Given the description of an element on the screen output the (x, y) to click on. 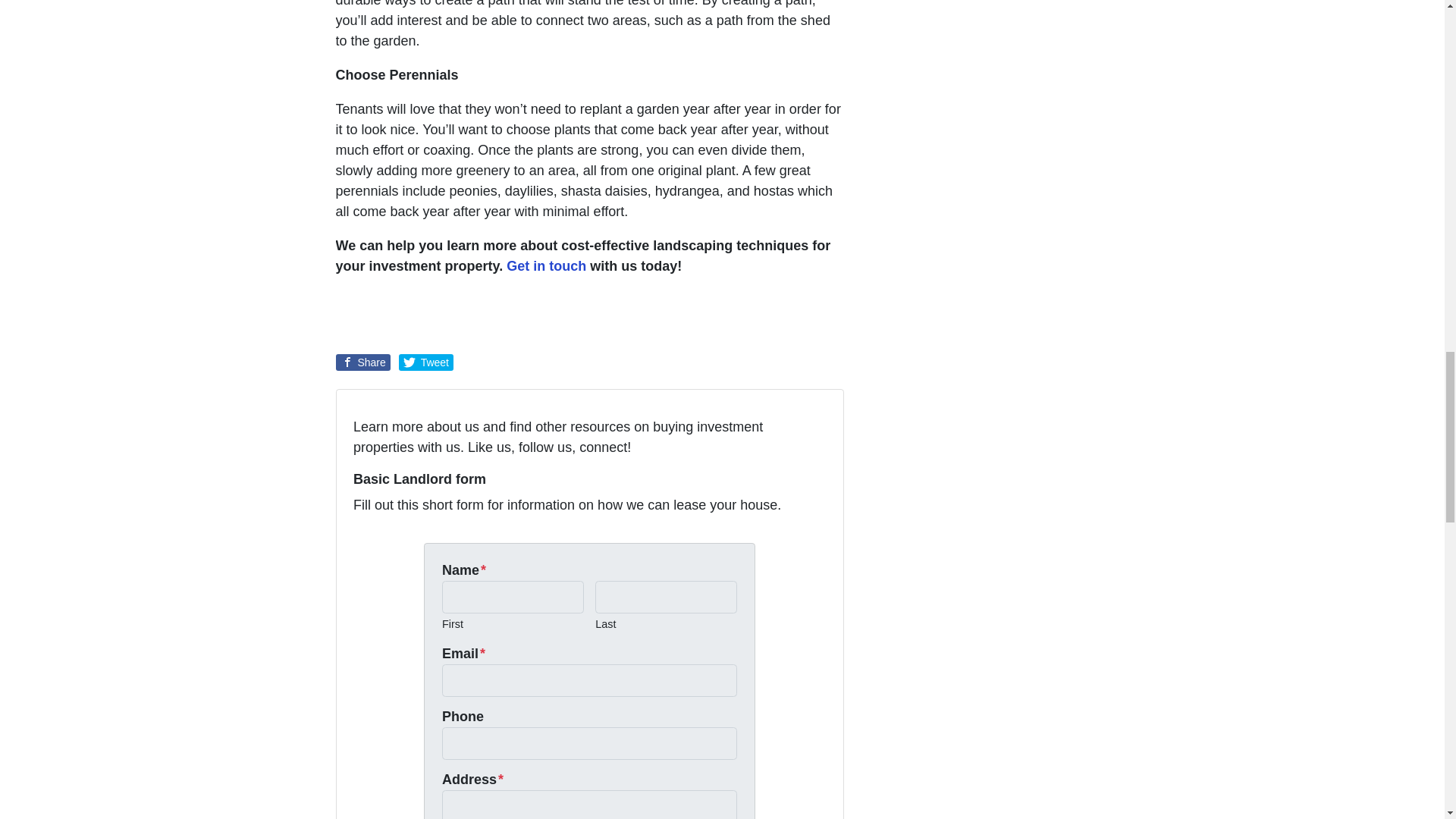
Share on Facebook (362, 362)
Tweet (425, 362)
Get in touch  (547, 265)
Share (362, 362)
Share on Twitter (425, 362)
